Given the description of an element on the screen output the (x, y) to click on. 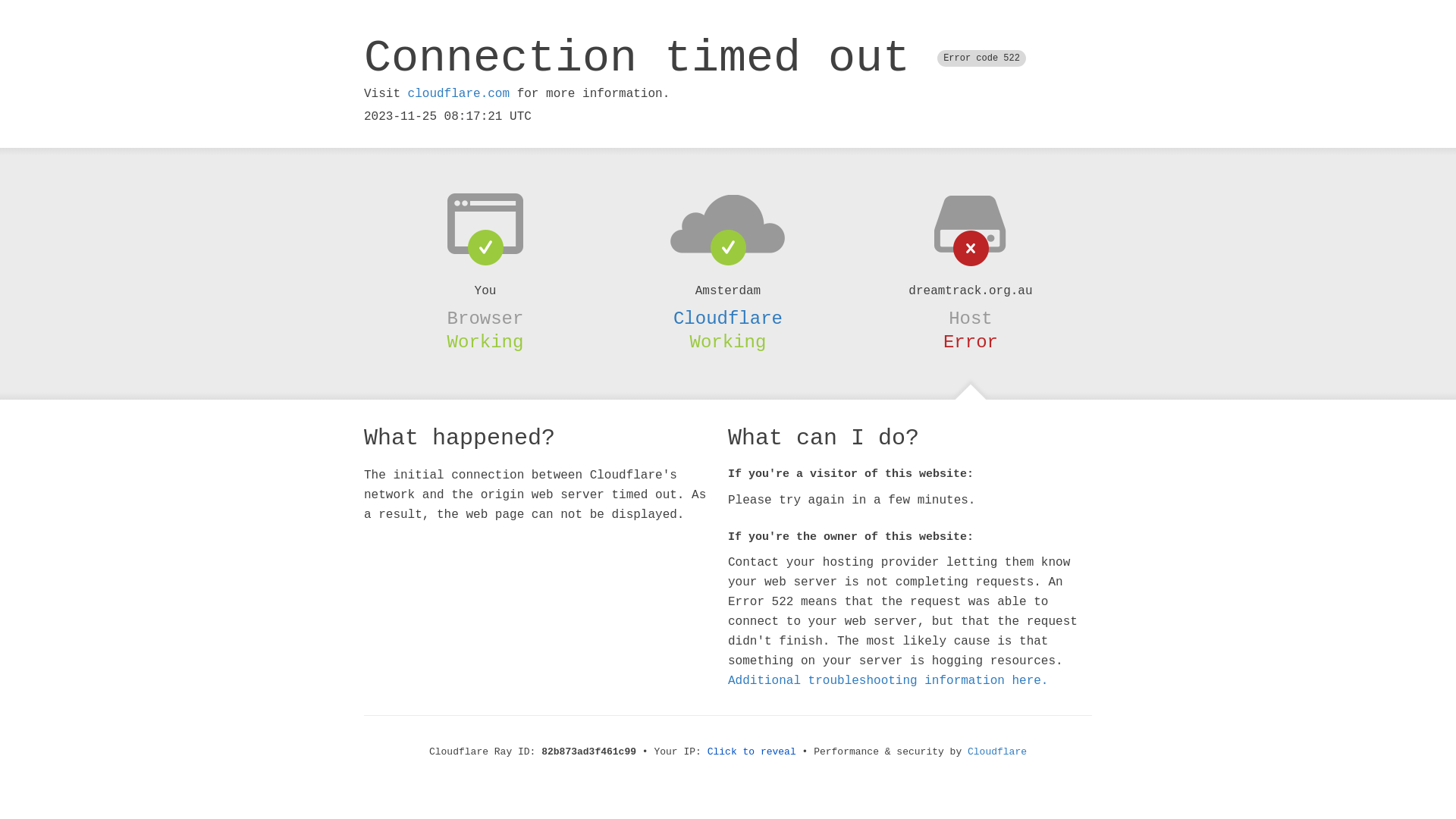
Cloudflare Element type: text (727, 318)
cloudflare.com Element type: text (458, 93)
Cloudflare Element type: text (996, 751)
Click to reveal Element type: text (751, 751)
Additional troubleshooting information here. Element type: text (888, 680)
